Given the description of an element on the screen output the (x, y) to click on. 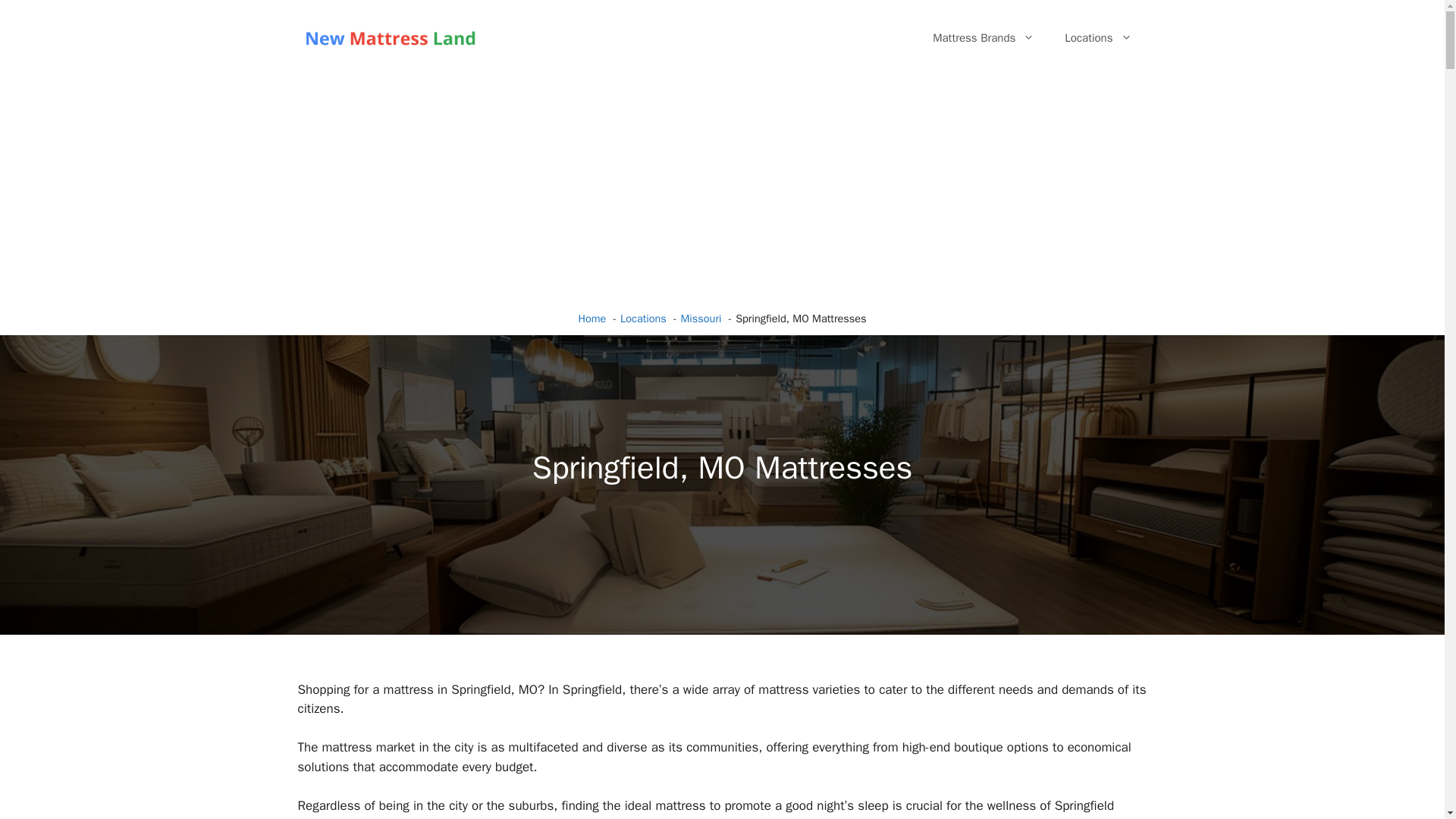
Locations (1098, 37)
Mattress Brands (983, 37)
